Given the description of an element on the screen output the (x, y) to click on. 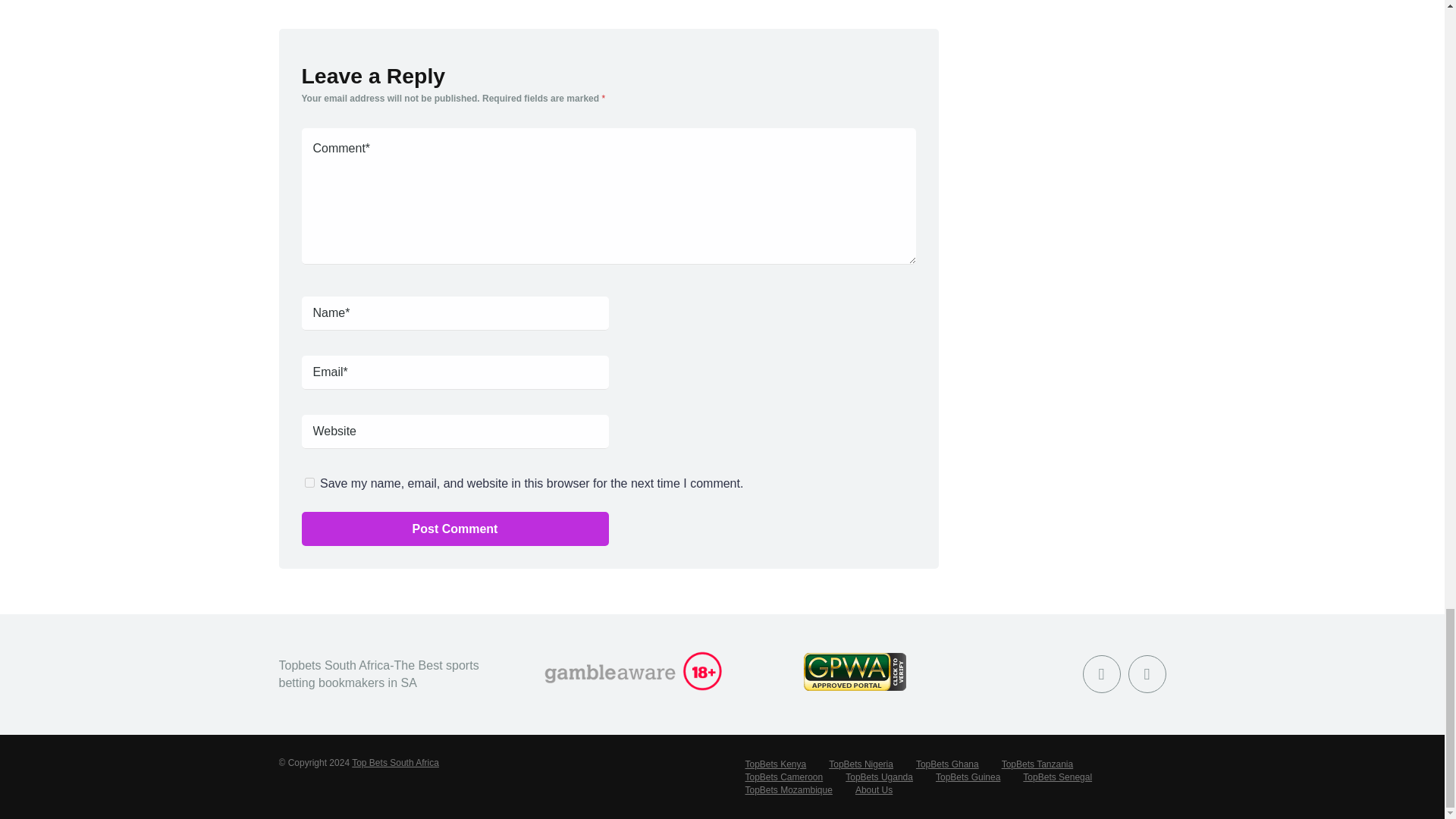
Post Comment (454, 528)
yes (309, 482)
